Given the description of an element on the screen output the (x, y) to click on. 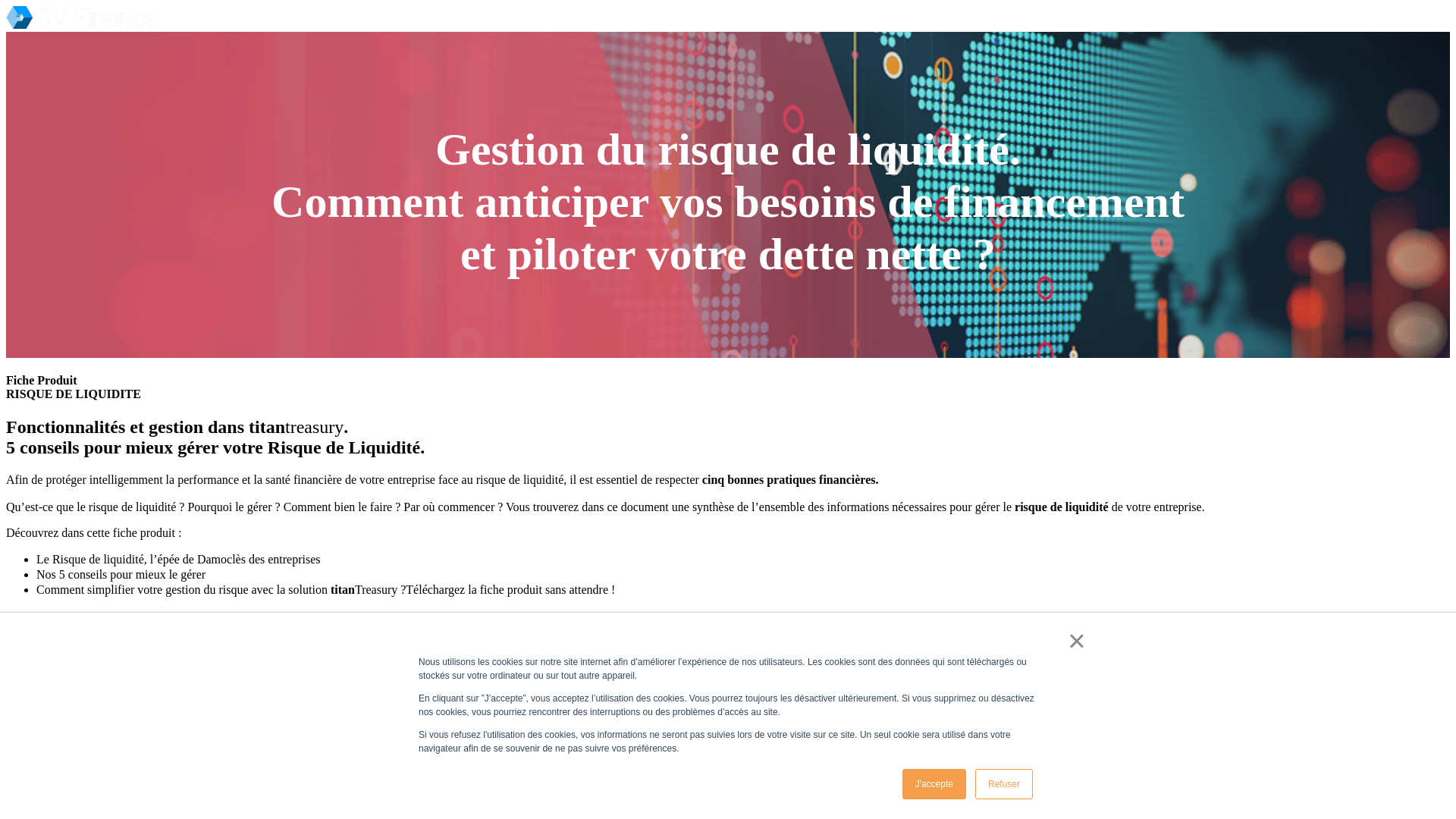
J'accepte Element type: text (934, 783)
3V-logo-blanc Element type: hover (81, 17)
Refuser Element type: text (1003, 783)
